Given the description of an element on the screen output the (x, y) to click on. 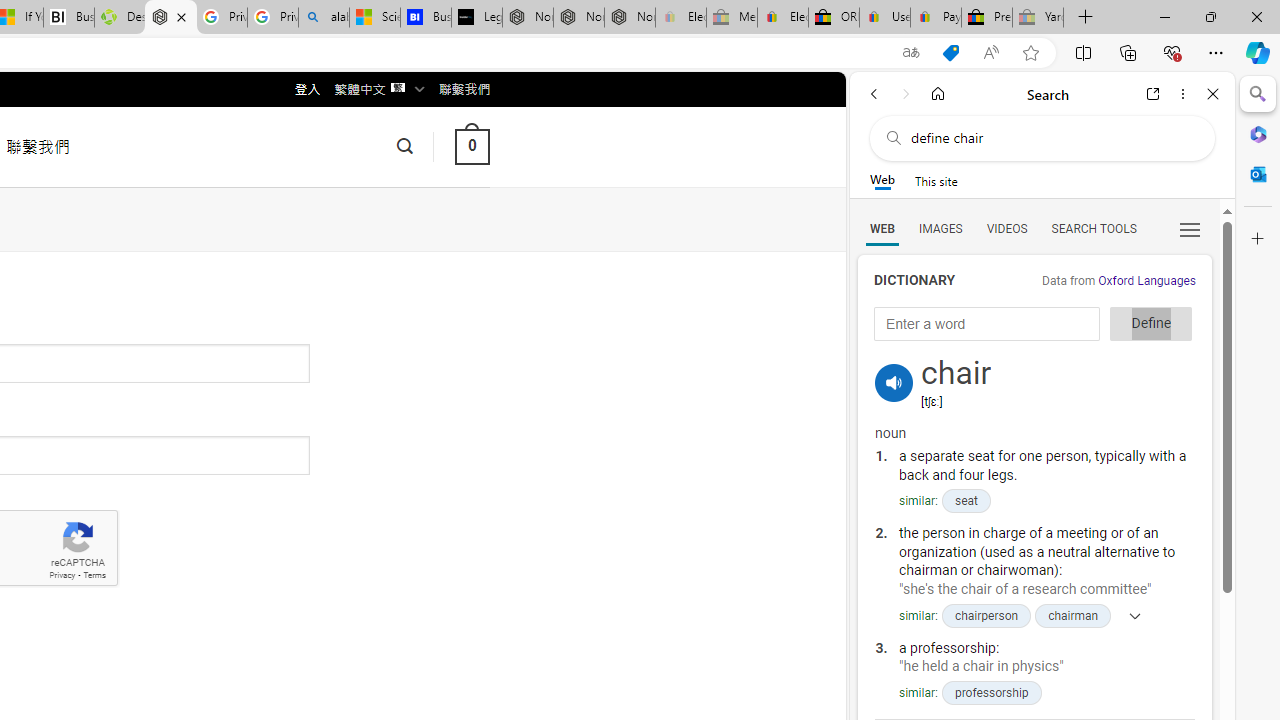
seat (965, 501)
Define (1150, 323)
alabama high school quarterback dies - Search (324, 17)
Terms (94, 575)
Show more (1129, 615)
chairman (1073, 615)
Descarga Driver Updater (119, 17)
